Given the description of an element on the screen output the (x, y) to click on. 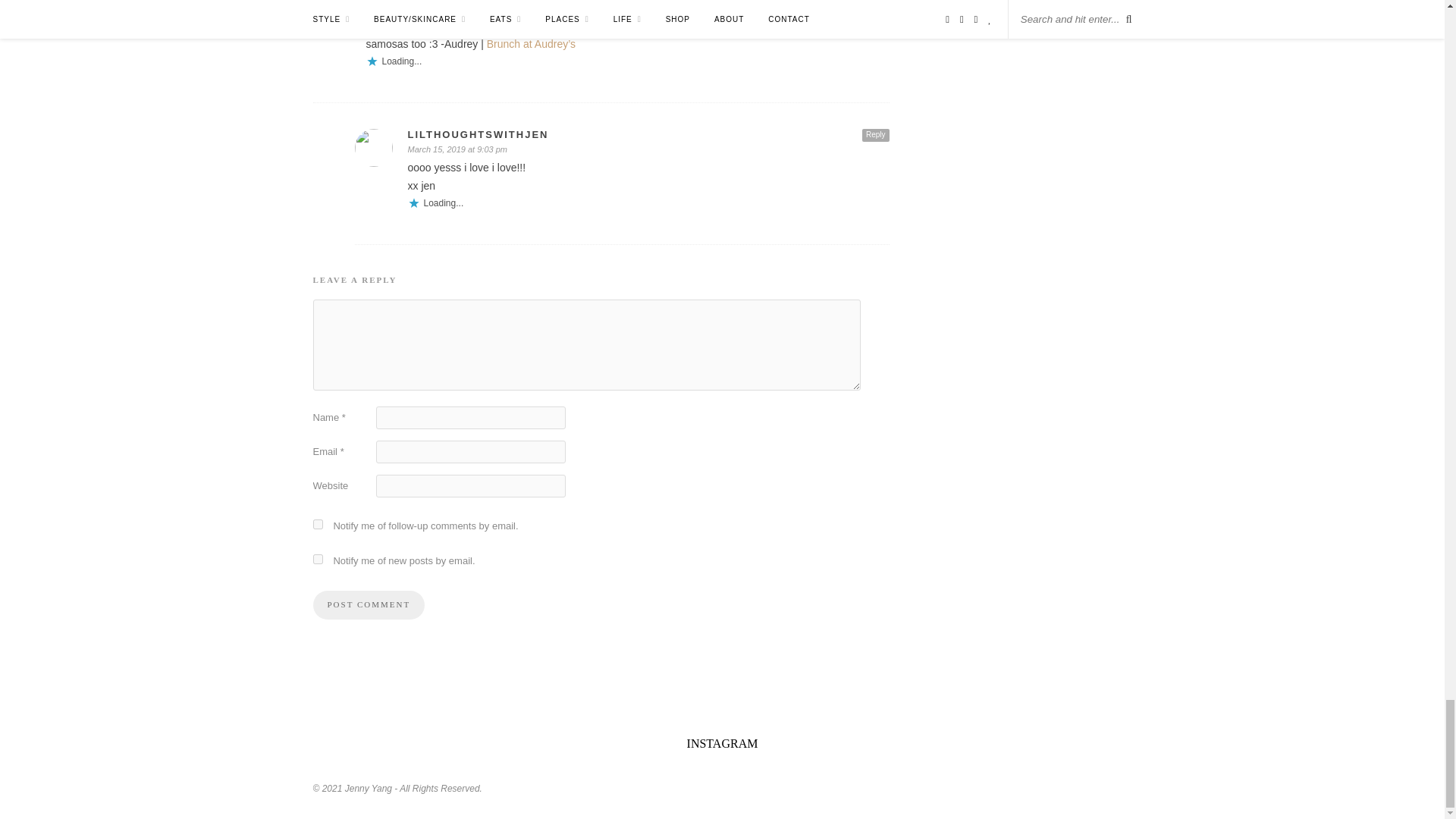
subscribe (317, 559)
subscribe (317, 524)
Post Comment (369, 604)
